Given the description of an element on the screen output the (x, y) to click on. 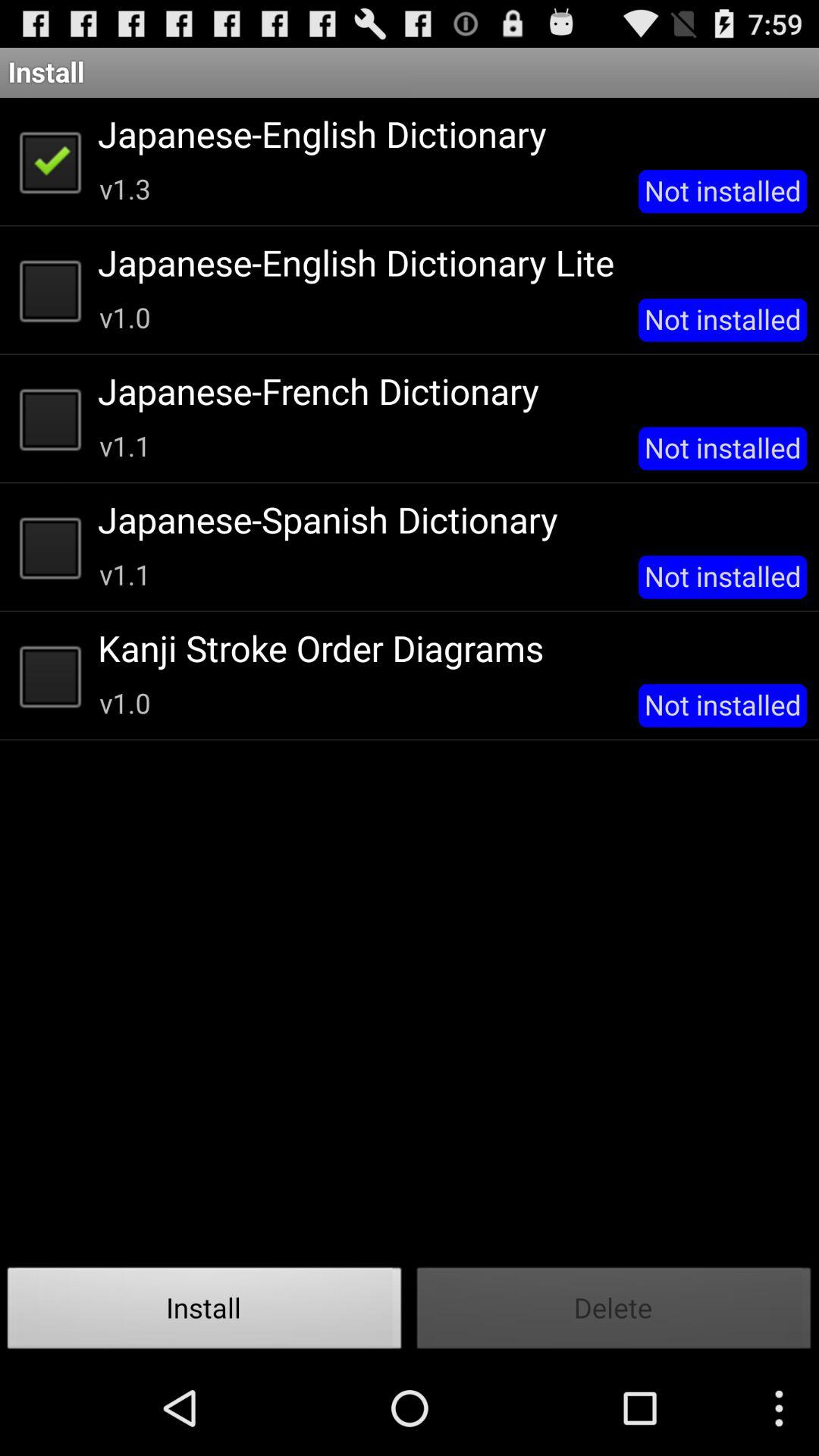
scroll to delete (614, 1312)
